Given the description of an element on the screen output the (x, y) to click on. 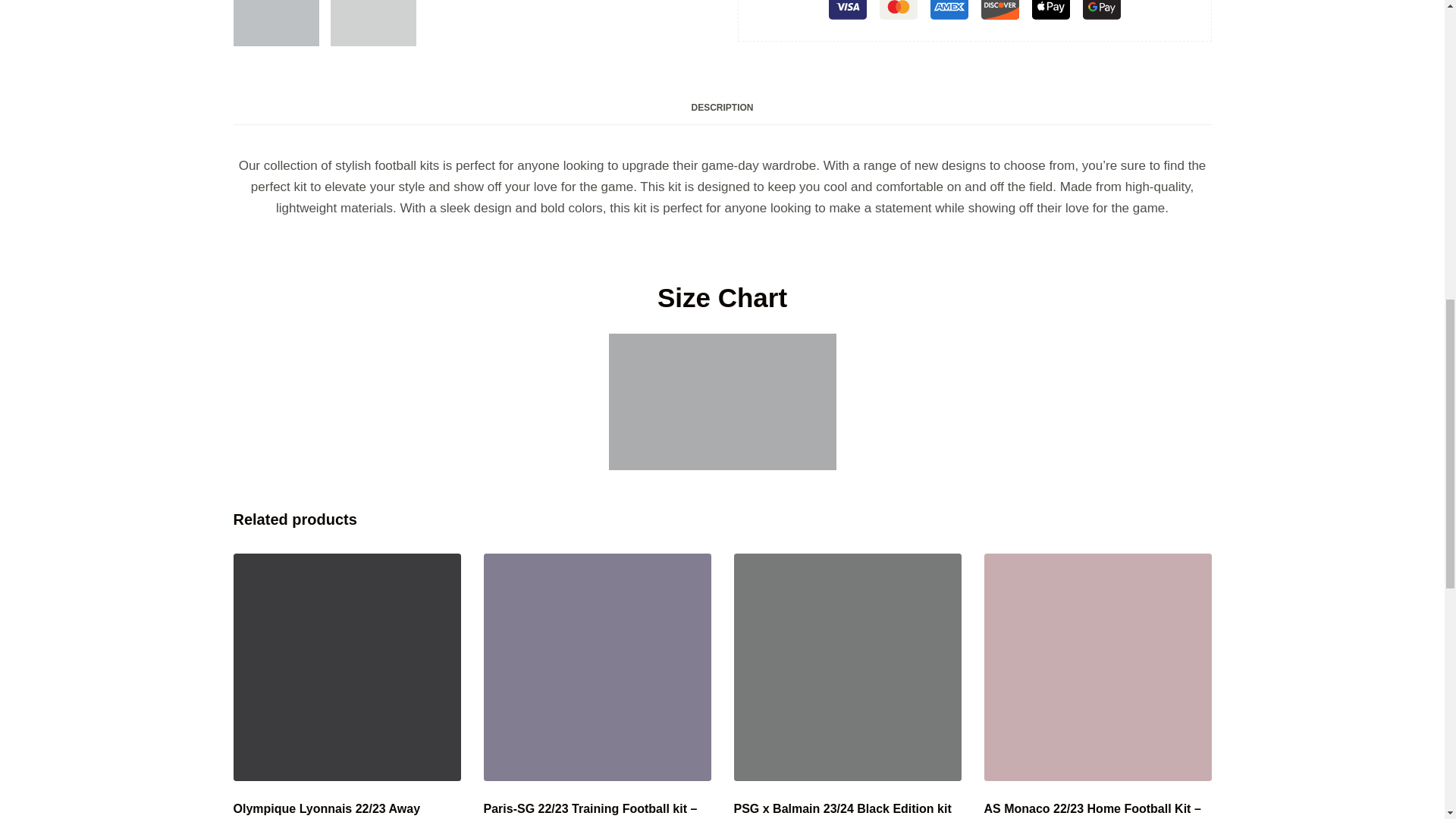
ef800d30-1 (373, 22)
90e558971-78b57f72be4370036f16702493928217-640-0 (597, 667)
b74d5dc2-2 (275, 22)
Lyonn (346, 667)
